Given the description of an element on the screen output the (x, y) to click on. 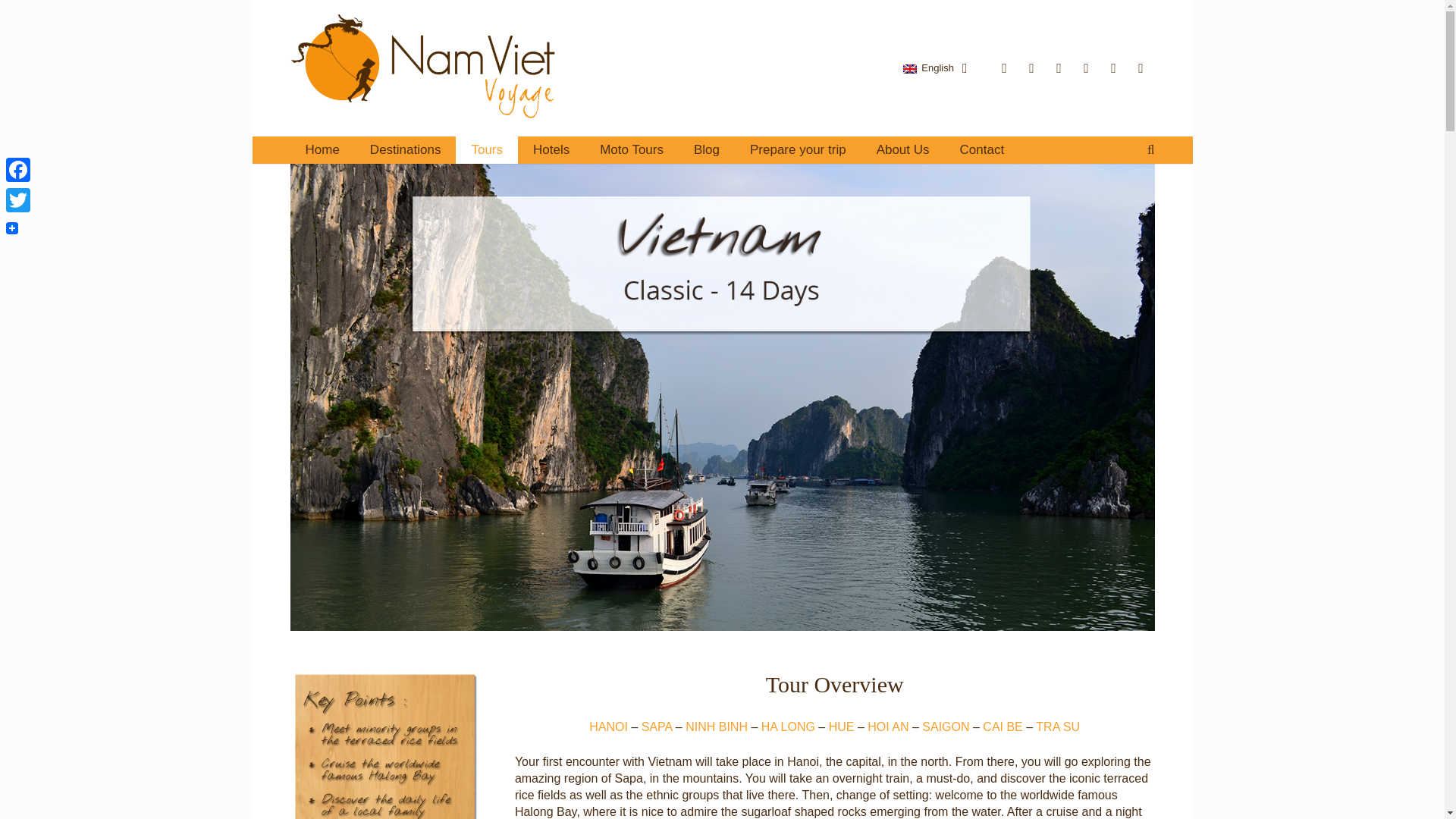
English (934, 67)
Home (321, 149)
Destinations (406, 149)
Facebook (17, 169)
Twitter (17, 200)
